Given the description of an element on the screen output the (x, y) to click on. 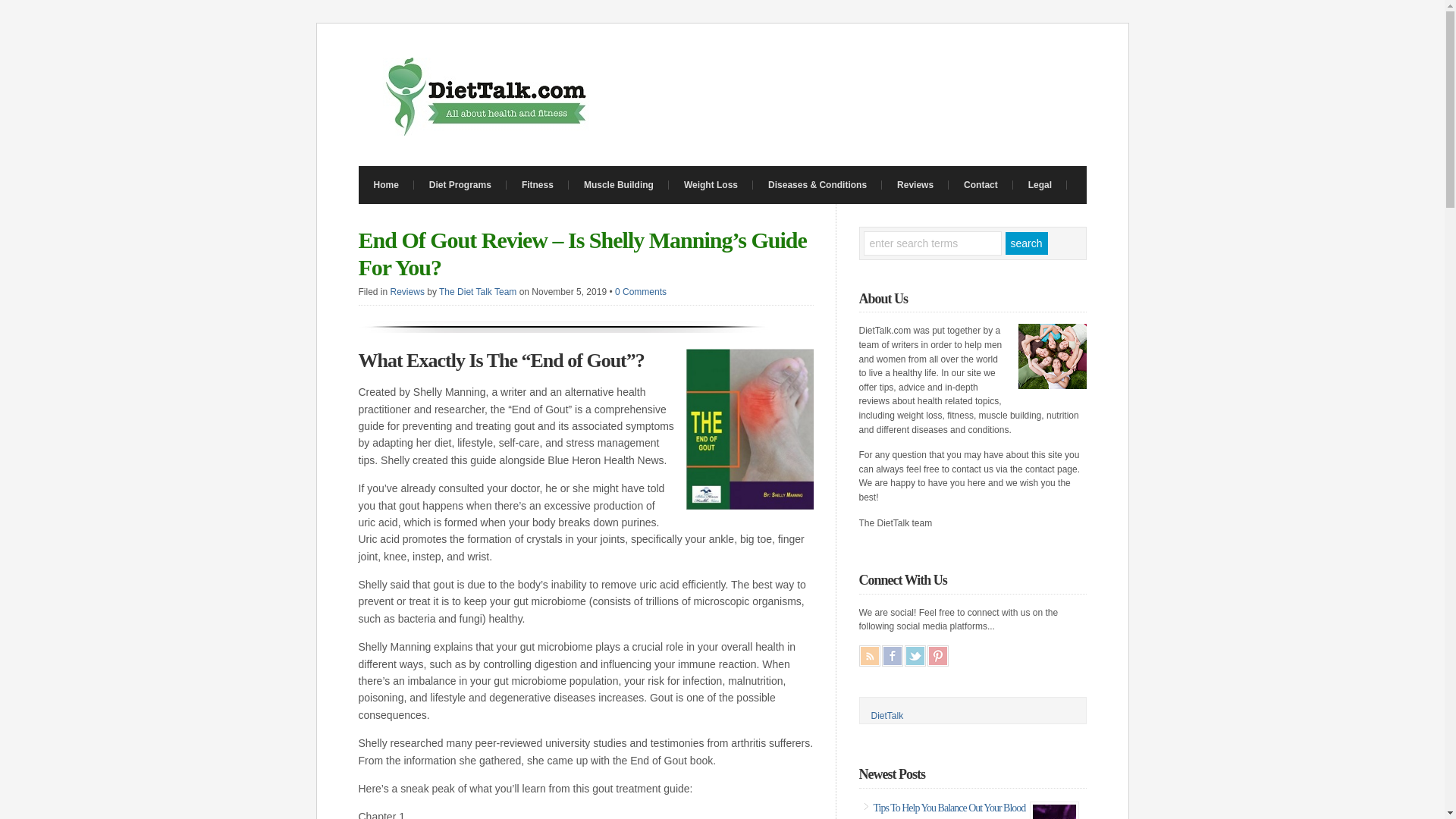
Diet Programs (459, 184)
Tips To Help You Balance Out Your Blood Sugar Levels (949, 810)
Reviews (407, 291)
DietTalk (886, 715)
Fitness (537, 184)
Home (385, 184)
Enter Search Terms (932, 242)
0 Comments (640, 291)
Weight Loss (710, 184)
Posts by The Diet Talk Team (477, 291)
Connect on Pinterest (936, 655)
Reviews (915, 184)
Subscribe via RSS Feed (869, 655)
Connect on Facebook (891, 655)
